Given the description of an element on the screen output the (x, y) to click on. 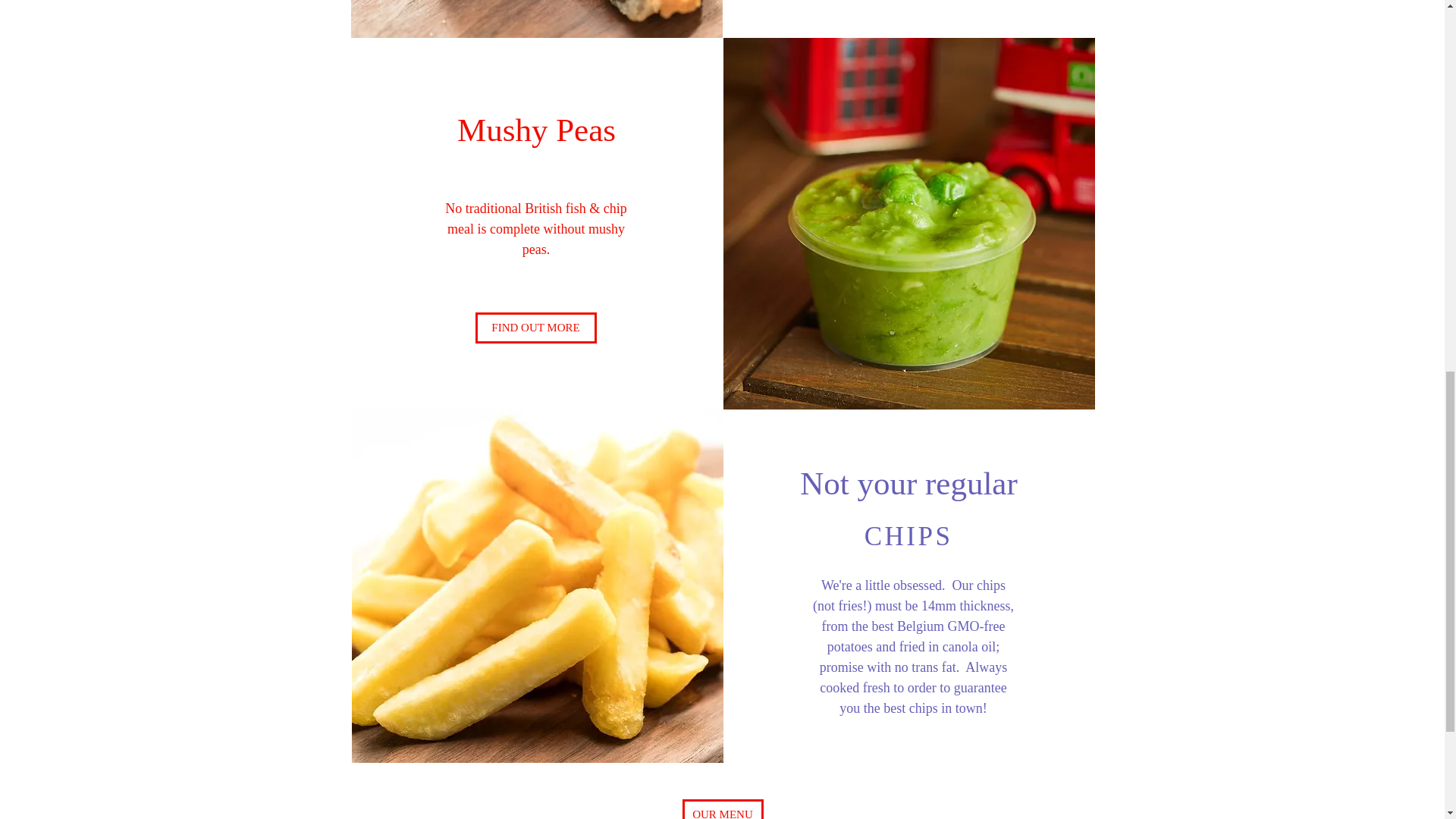
OUR MENU (722, 809)
FIND OUT MORE (534, 327)
